Given the description of an element on the screen output the (x, y) to click on. 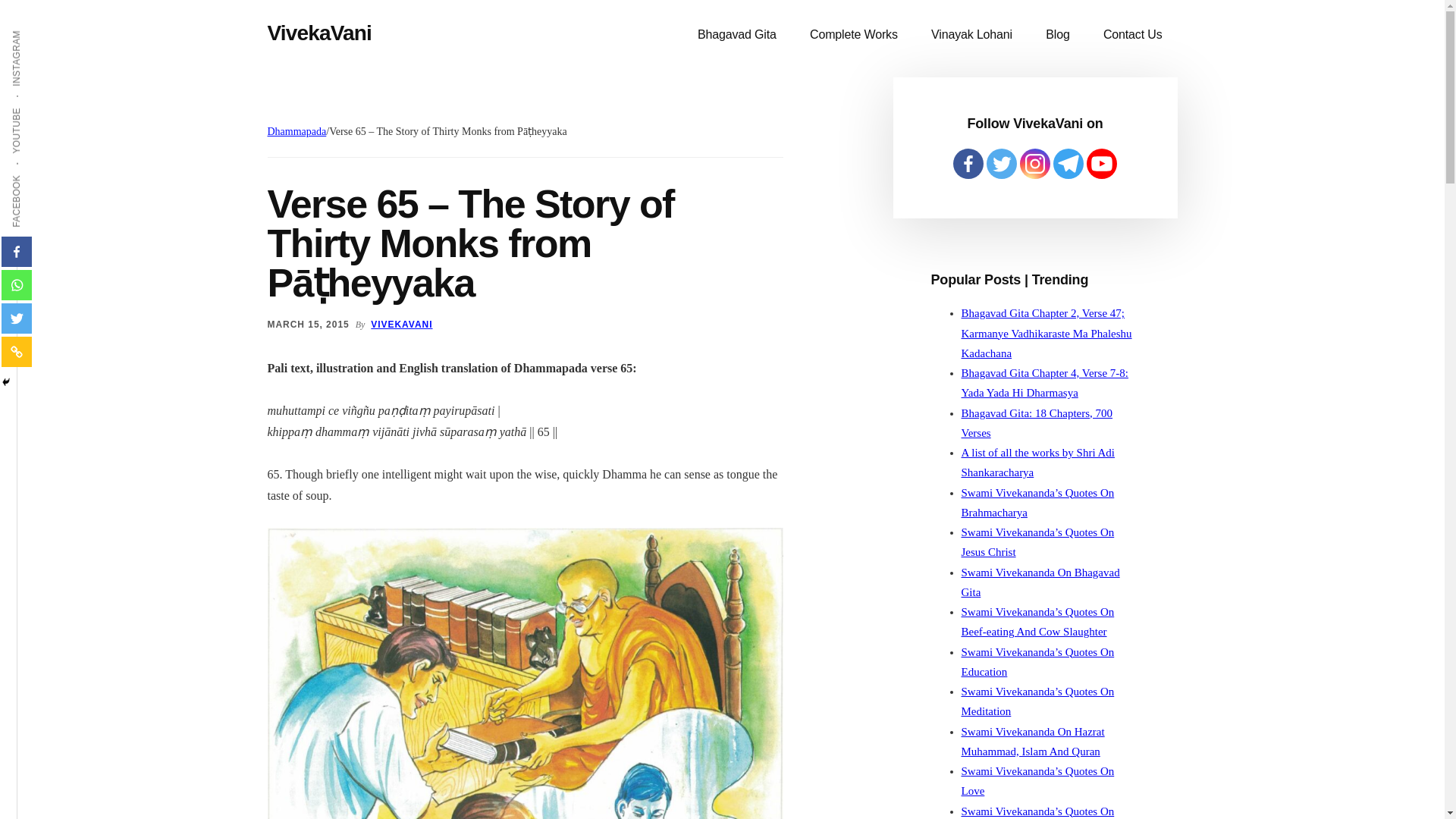
Go to the Dhammapada Category archives. (296, 131)
Complete Works (853, 34)
VivekaVani (318, 33)
FACEBOOK (44, 173)
Blog (1057, 34)
Instagram (1034, 163)
Telegram (1067, 163)
Copy Link (16, 351)
Hide (5, 381)
Twitter (16, 318)
YOUTUBE (41, 106)
INSTAGRAM (45, 28)
Whatsapp (16, 285)
Vinayak Lohani (971, 34)
Twitter (1001, 163)
